Given the description of an element on the screen output the (x, y) to click on. 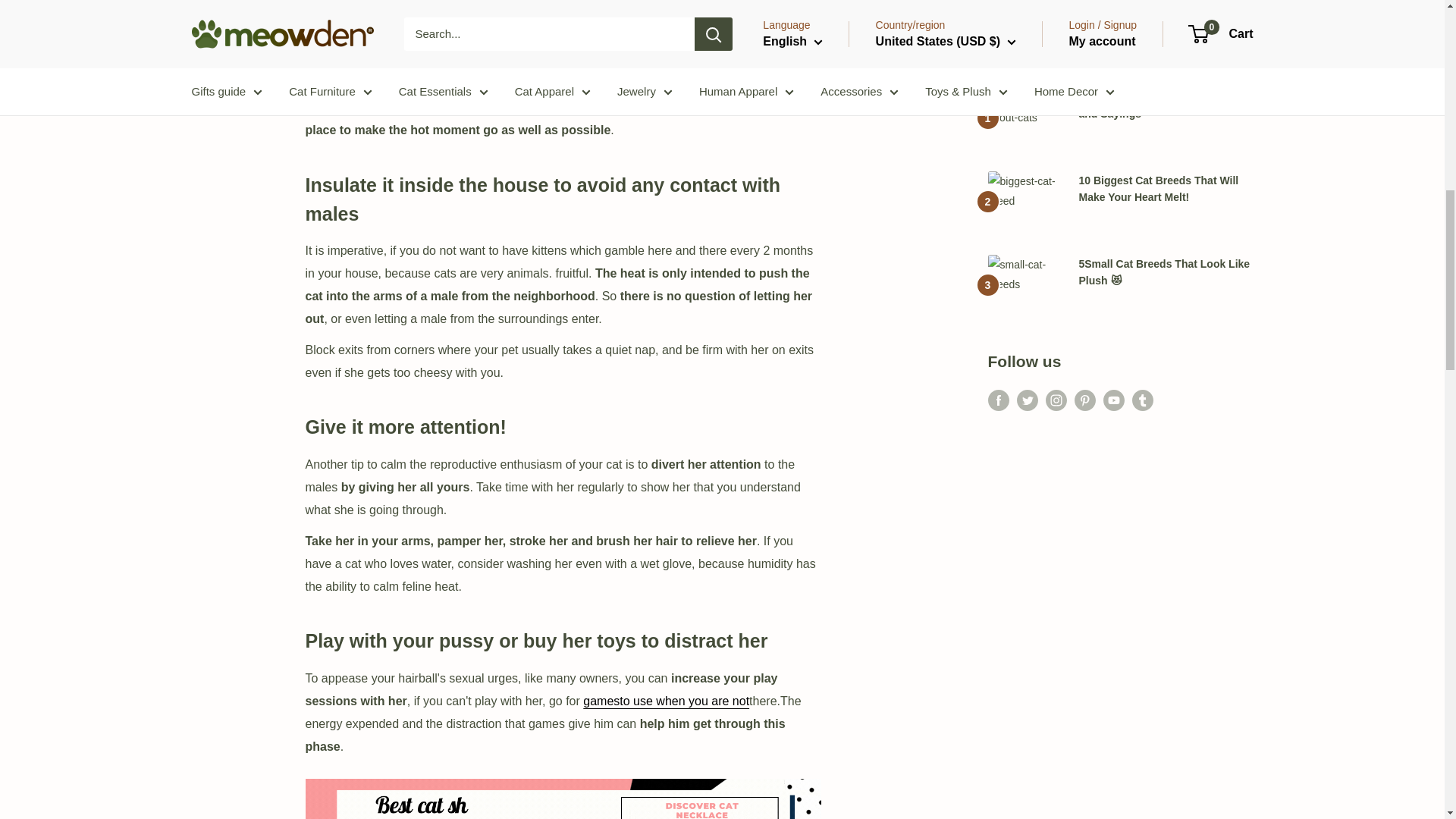
cat-necklace (562, 777)
